Given the description of an element on the screen output the (x, y) to click on. 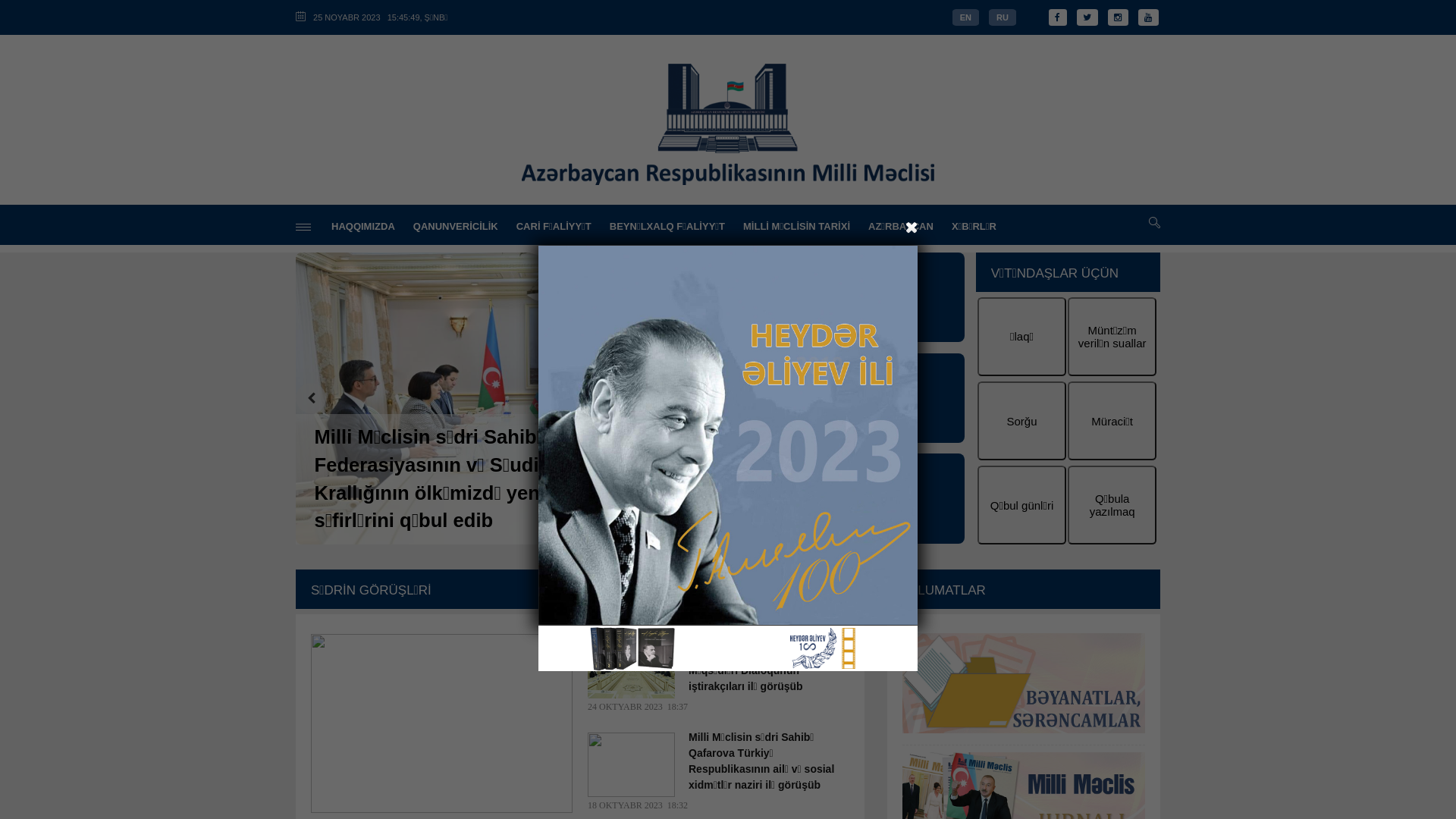
Previous Element type: text (310, 397)
EN Element type: text (965, 16)
RU Element type: text (1002, 16)
HAQQIMIZDA Element type: text (363, 226)
Next Element type: text (755, 397)
QANUNLAR Element type: text (871, 497)
menyu Element type: text (302, 226)
